Given the description of an element on the screen output the (x, y) to click on. 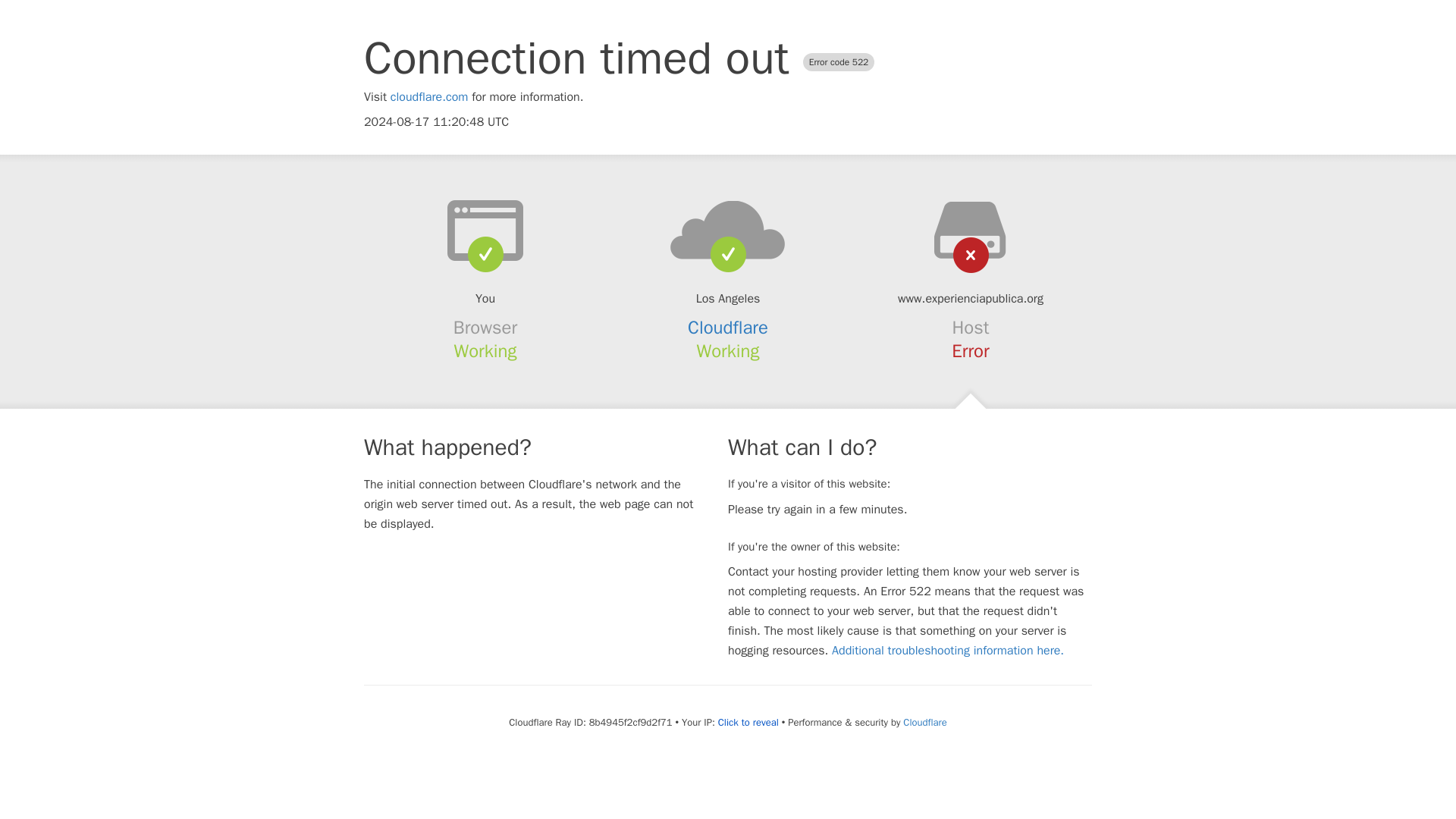
Cloudflare (924, 721)
Additional troubleshooting information here. (947, 650)
cloudflare.com (429, 96)
Click to reveal (747, 722)
Cloudflare (727, 327)
